Given the description of an element on the screen output the (x, y) to click on. 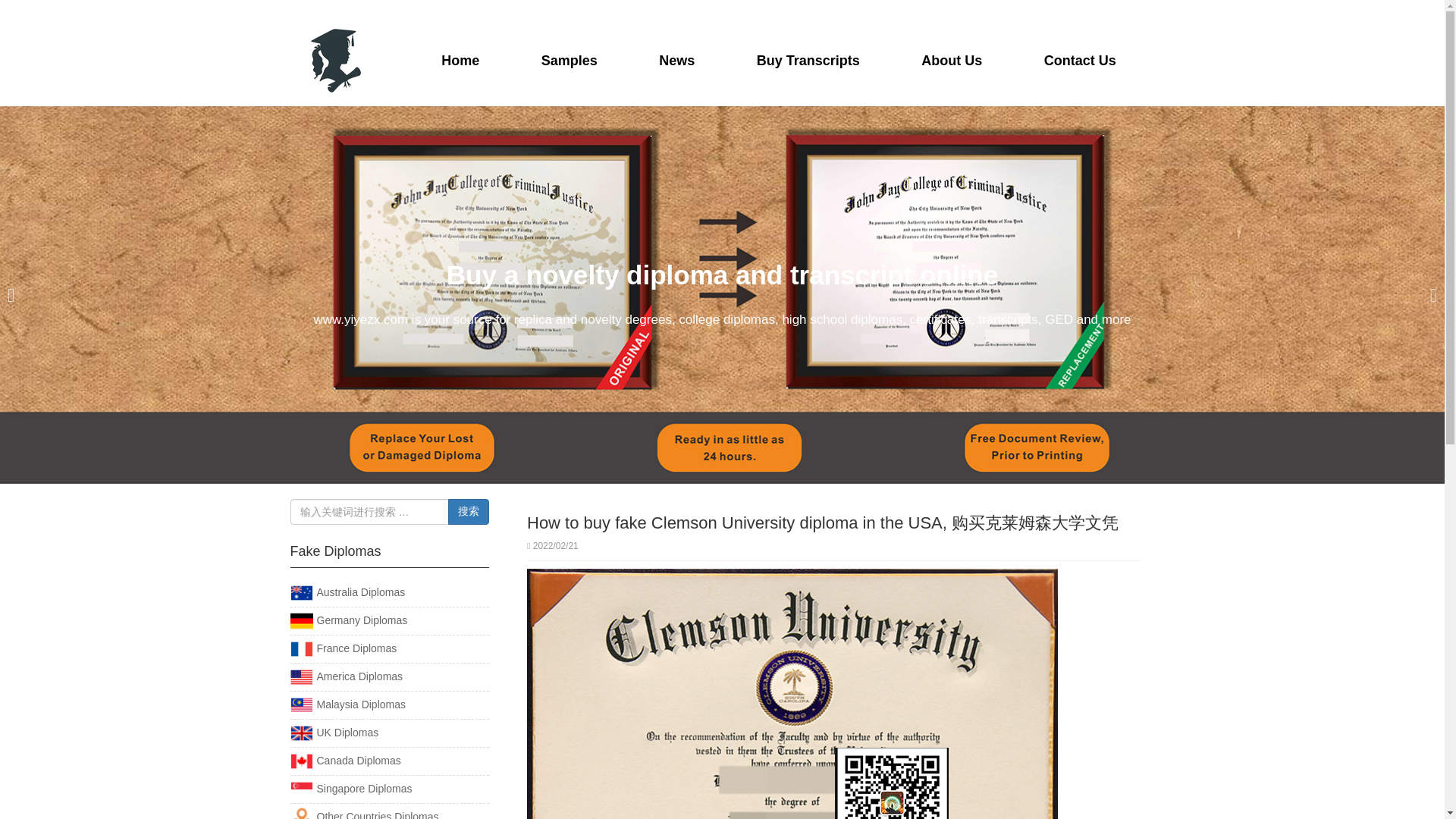
France Diplomas (342, 648)
Germany Diplomas (348, 620)
Malaysia Diplomas (346, 704)
Clemson University diploma  (792, 693)
About Us (950, 60)
News (676, 60)
UK Diplomas (333, 732)
America Diplomas (346, 676)
Buy Transcripts (808, 60)
Singapore Diplomas (350, 788)
